Given the description of an element on the screen output the (x, y) to click on. 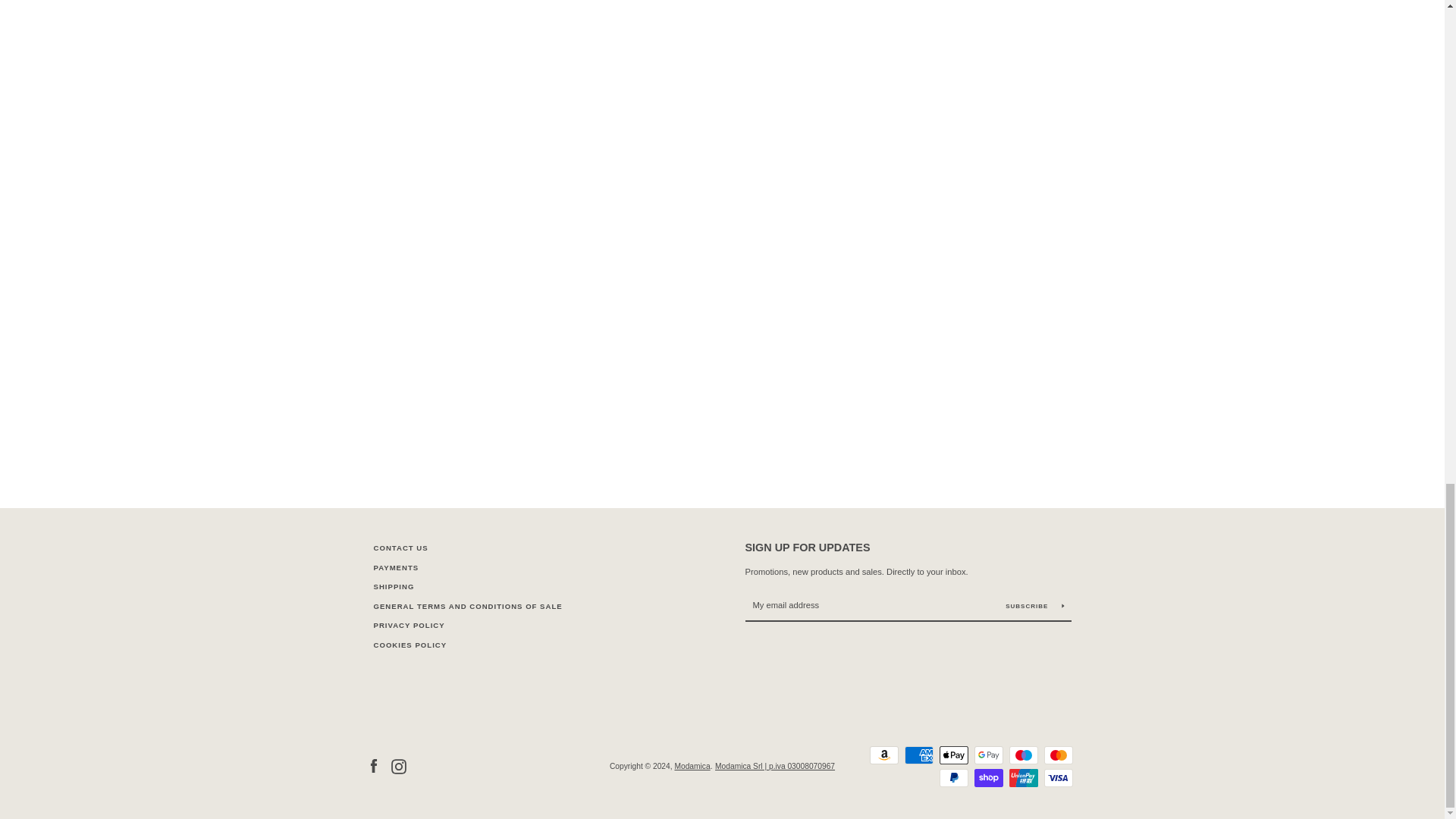
American Express (918, 755)
Maestro (1022, 755)
Union Pay (1022, 778)
Shop Pay (988, 778)
Google Pay (988, 755)
Modamica on Facebook (372, 765)
Apple Pay (953, 755)
PayPal (953, 778)
Customer reviews powered by Trustpilot (721, 715)
Amazon (883, 755)
Mastercard (1057, 755)
Modamica on Instagram (398, 765)
Visa (1057, 778)
